Given the description of an element on the screen output the (x, y) to click on. 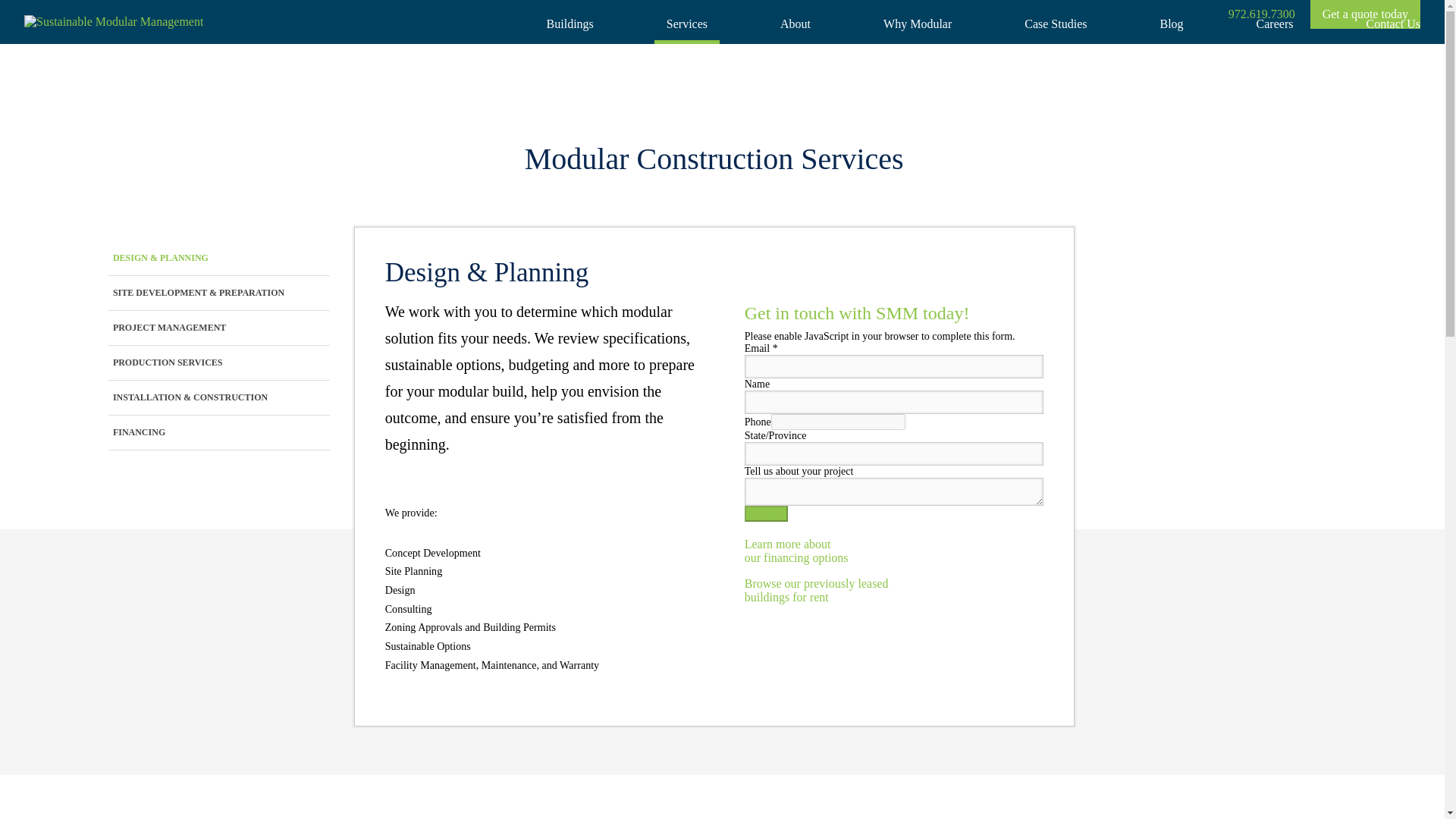
Why Modular (916, 24)
PROJECT MANAGEMENT (218, 327)
Buildings (569, 24)
About (795, 24)
Submit (765, 513)
Contact Us (1393, 24)
Services (686, 24)
972.619.7300 (816, 590)
Careers (1261, 14)
Blog (1275, 24)
PRODUCTION SERVICES (796, 550)
FINANCING (1171, 24)
Get a quote today (218, 362)
